Given the description of an element on the screen output the (x, y) to click on. 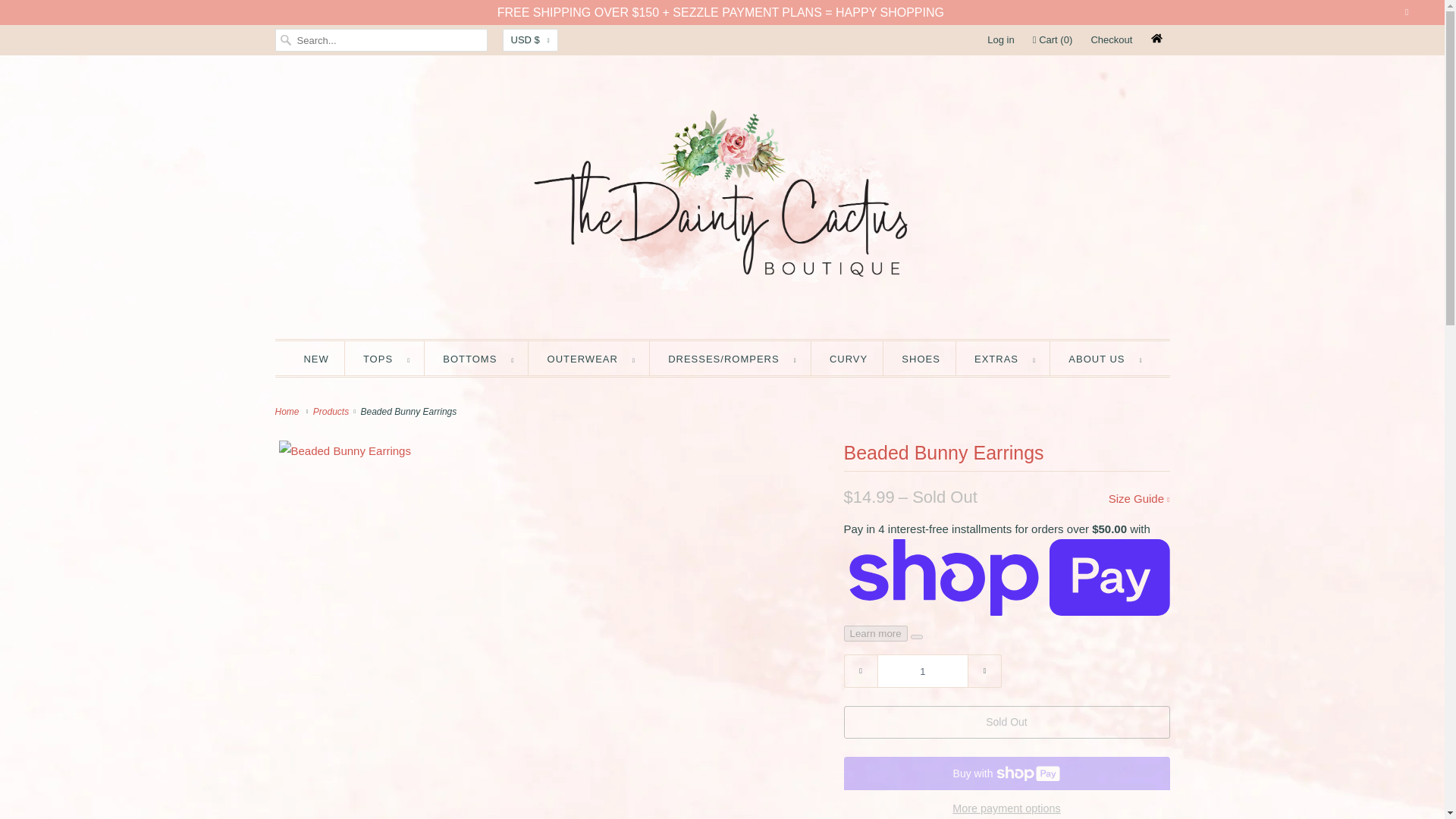
The Dainty Cactus Boutique (288, 411)
Checkout (1111, 39)
1 (922, 670)
Log in (1000, 39)
Products (332, 411)
